Given the description of an element on the screen output the (x, y) to click on. 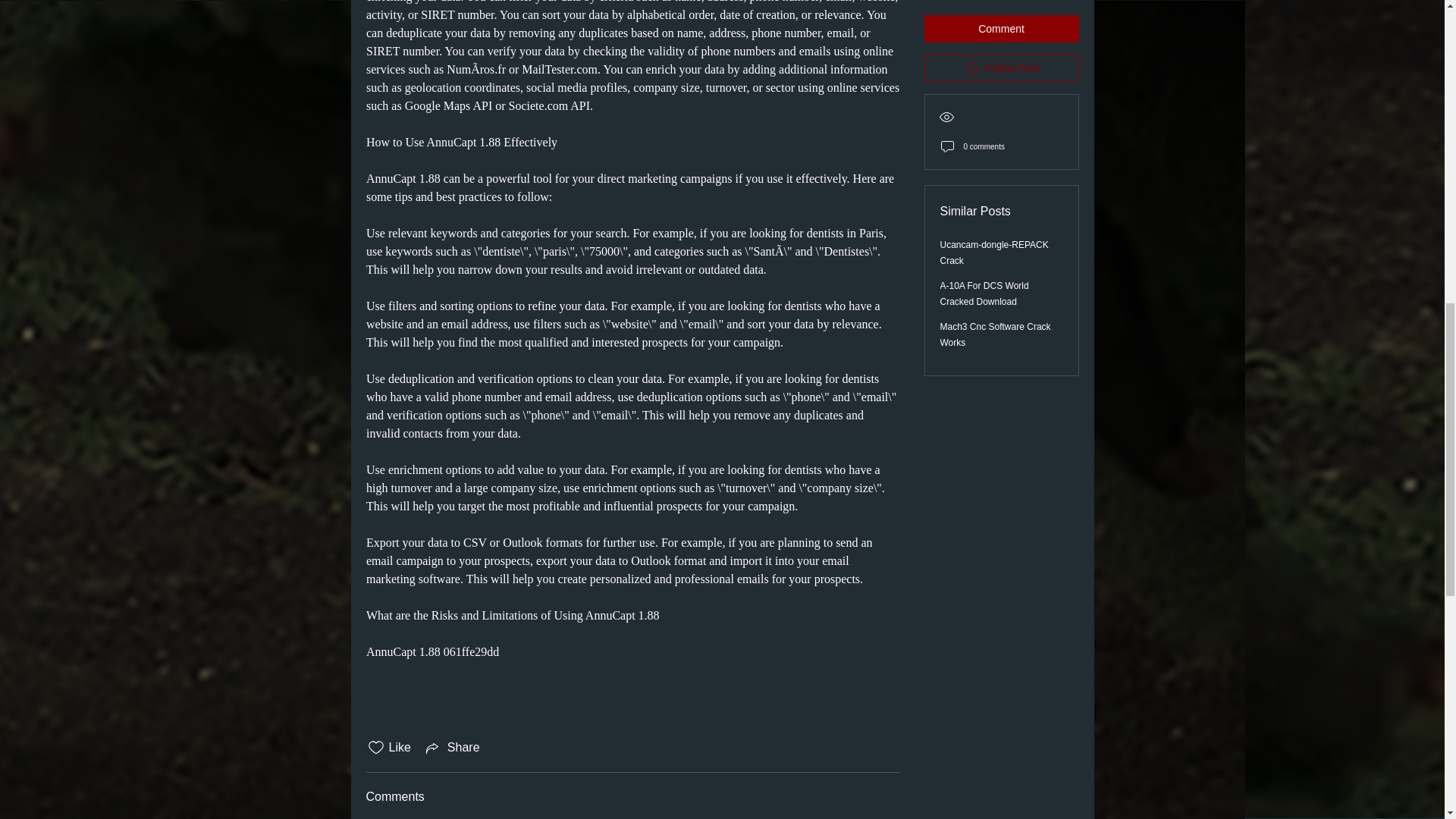
Share (451, 747)
